Given the description of an element on the screen output the (x, y) to click on. 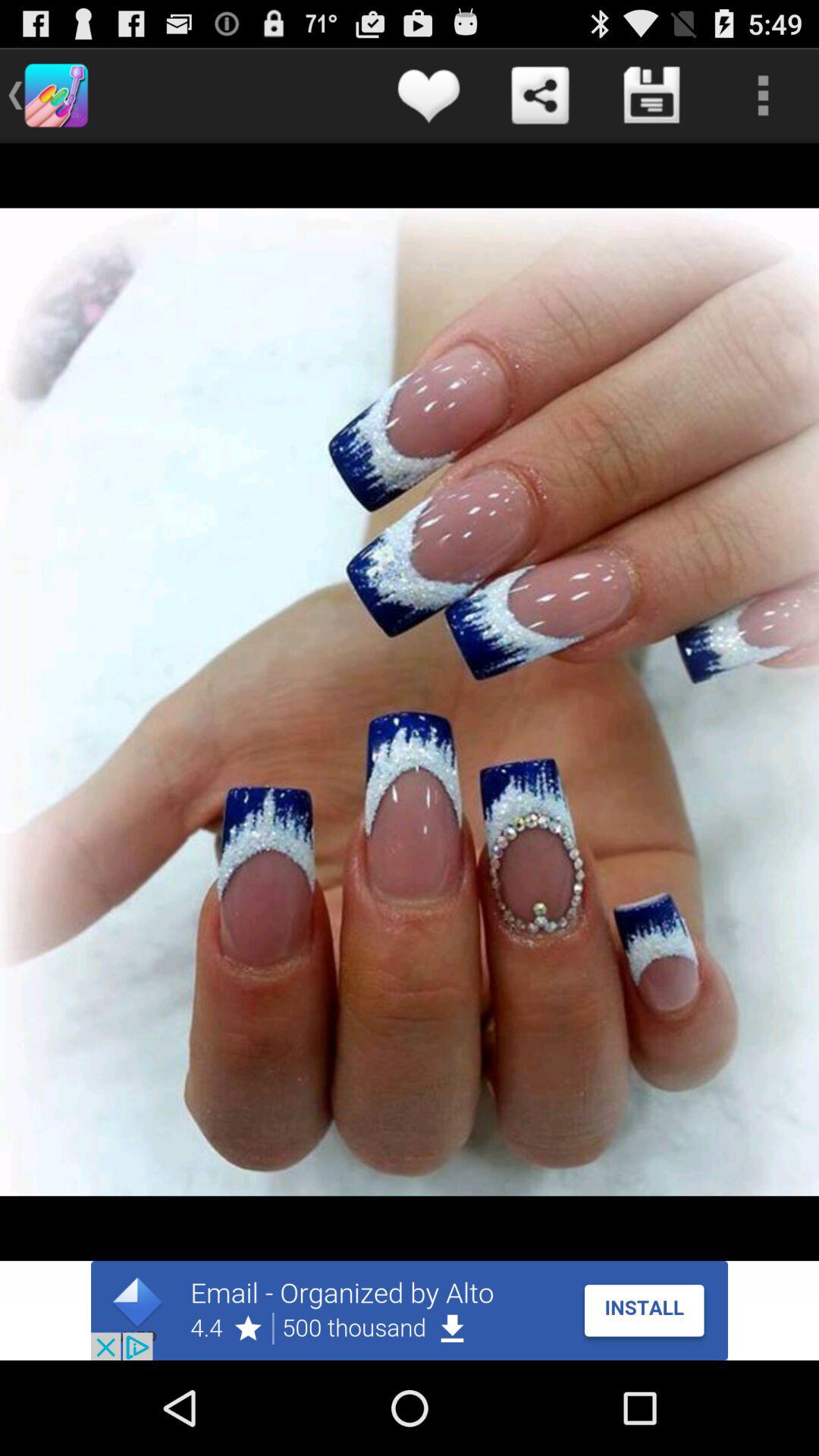
advertisement from outside source (409, 1310)
